Given the description of an element on the screen output the (x, y) to click on. 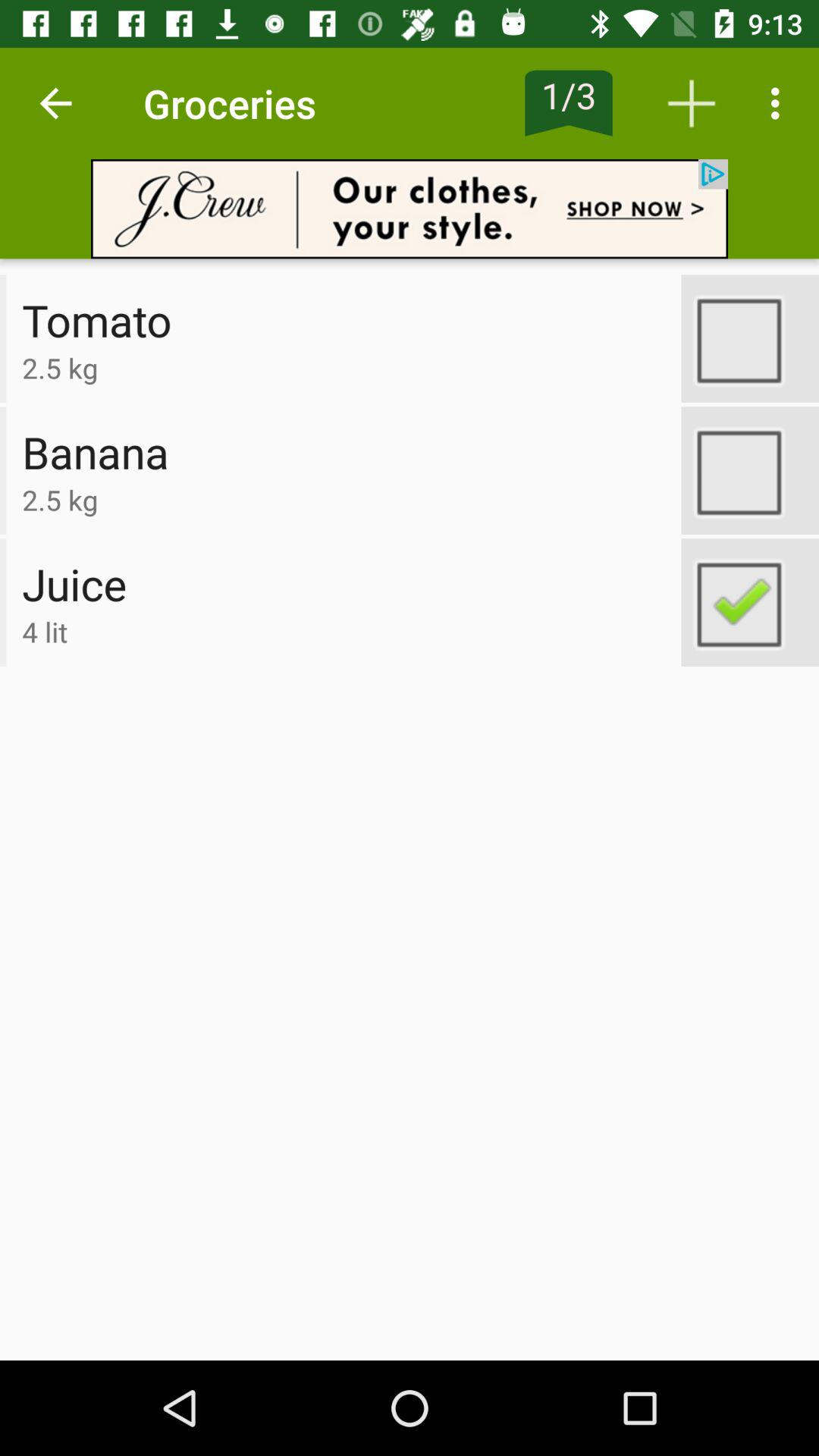
select item (750, 338)
